Given the description of an element on the screen output the (x, y) to click on. 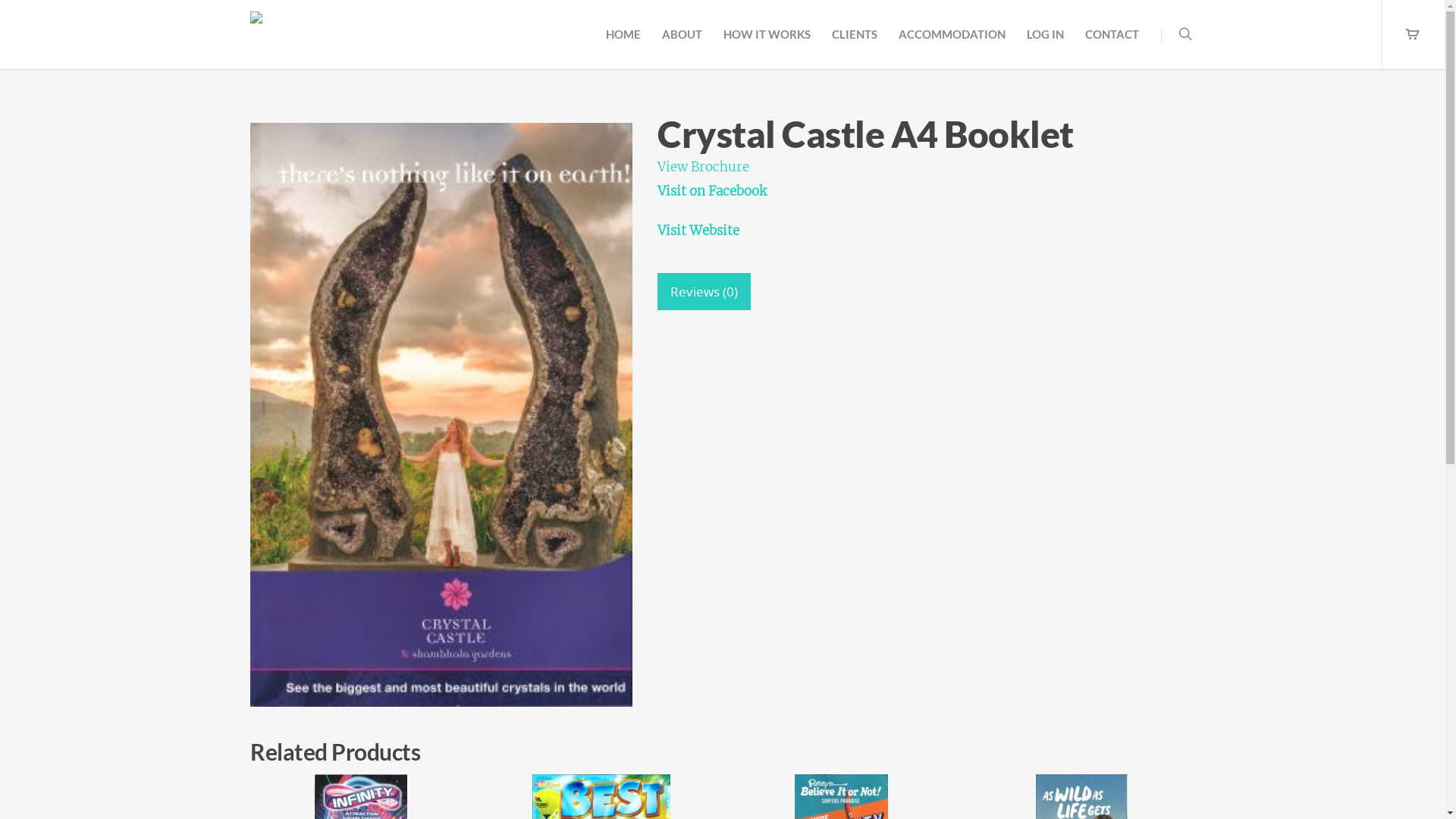
Visit Website Element type: text (698, 230)
Reviews (0) Element type: text (703, 291)
Visit on Facebook Element type: text (711, 190)
CLIENTS Element type: text (854, 40)
CONTACT Element type: text (1111, 40)
View Brochure Element type: text (703, 166)
HOME Element type: text (623, 40)
HOW IT WORKS Element type: text (766, 40)
ABOUT Element type: text (682, 40)
ACCOMMODATION Element type: text (951, 40)
LOG IN Element type: text (1044, 40)
Crystal Castle A4 Book Element type: hover (441, 414)
